Given the description of an element on the screen output the (x, y) to click on. 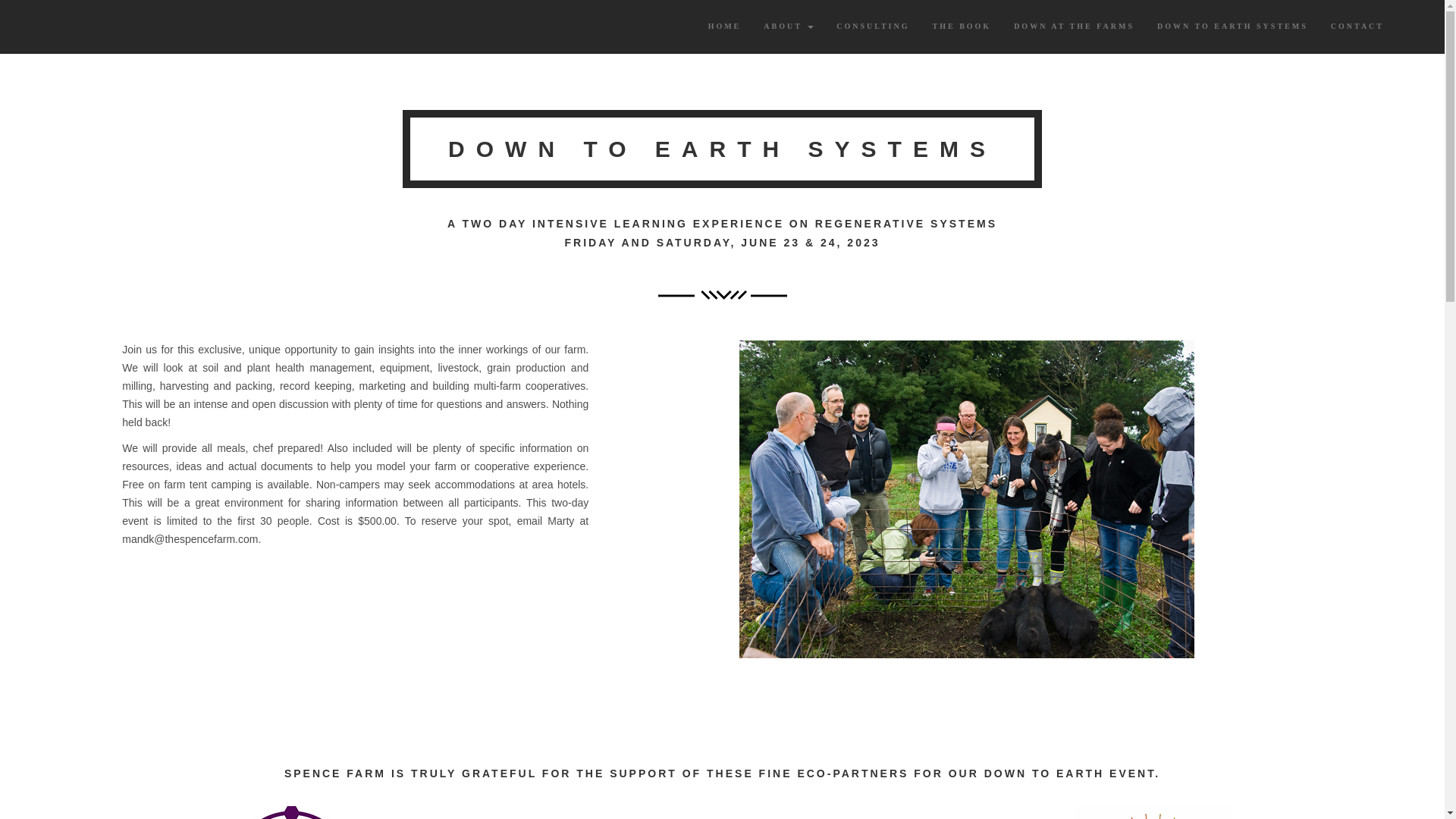
HOME (724, 26)
CONTACT (1356, 26)
DOWN AT THE FARMS (1074, 26)
ABOUT (788, 26)
DOWN TO EARTH SYSTEMS (1232, 26)
THE BOOK (962, 26)
CONSULTING (872, 26)
